Given the description of an element on the screen output the (x, y) to click on. 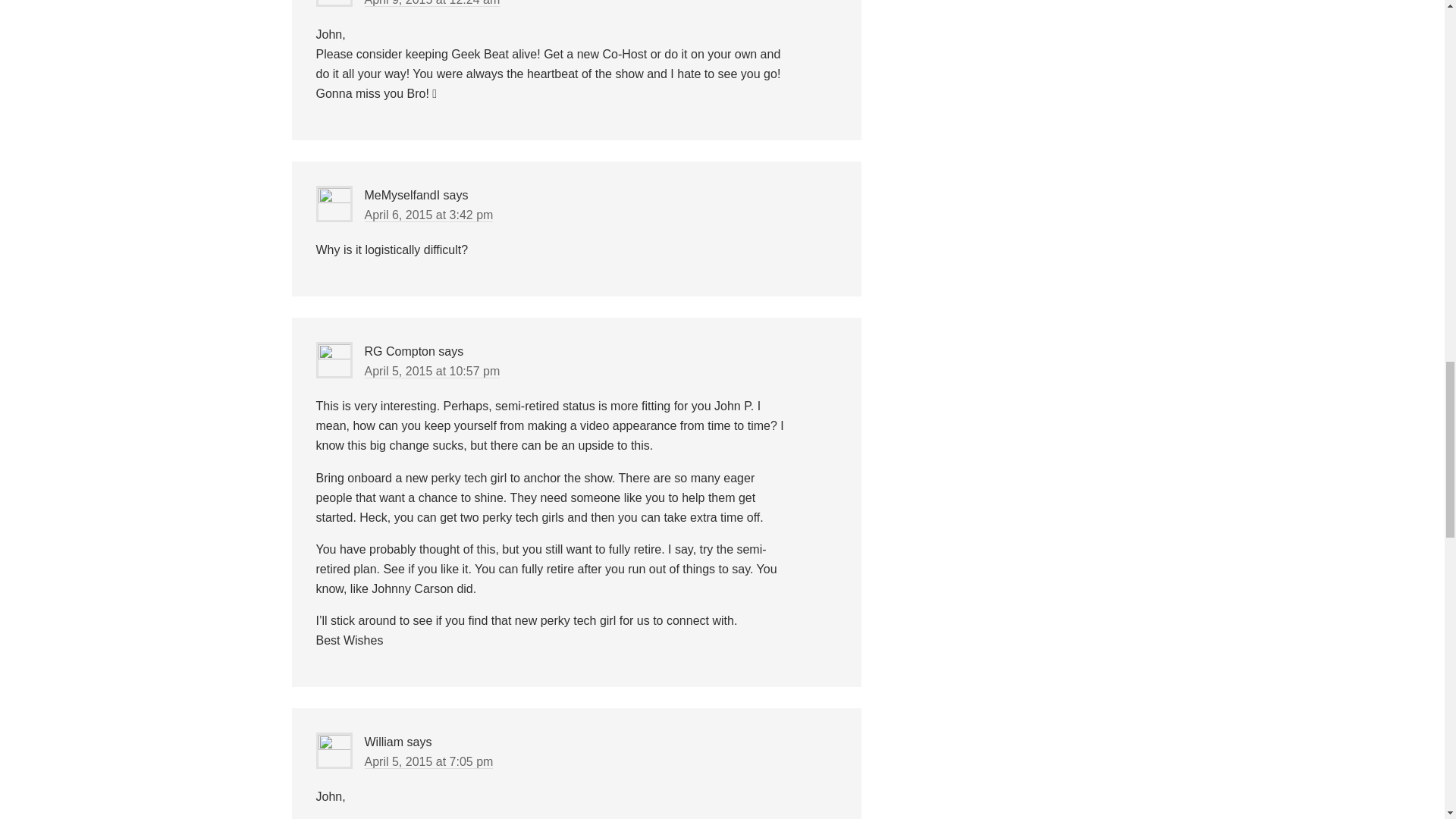
April 9, 2015 at 12:24 am (431, 3)
April 5, 2015 at 10:57 pm (431, 371)
April 5, 2015 at 7:05 pm (428, 762)
April 6, 2015 at 3:42 pm (428, 214)
